Given the description of an element on the screen output the (x, y) to click on. 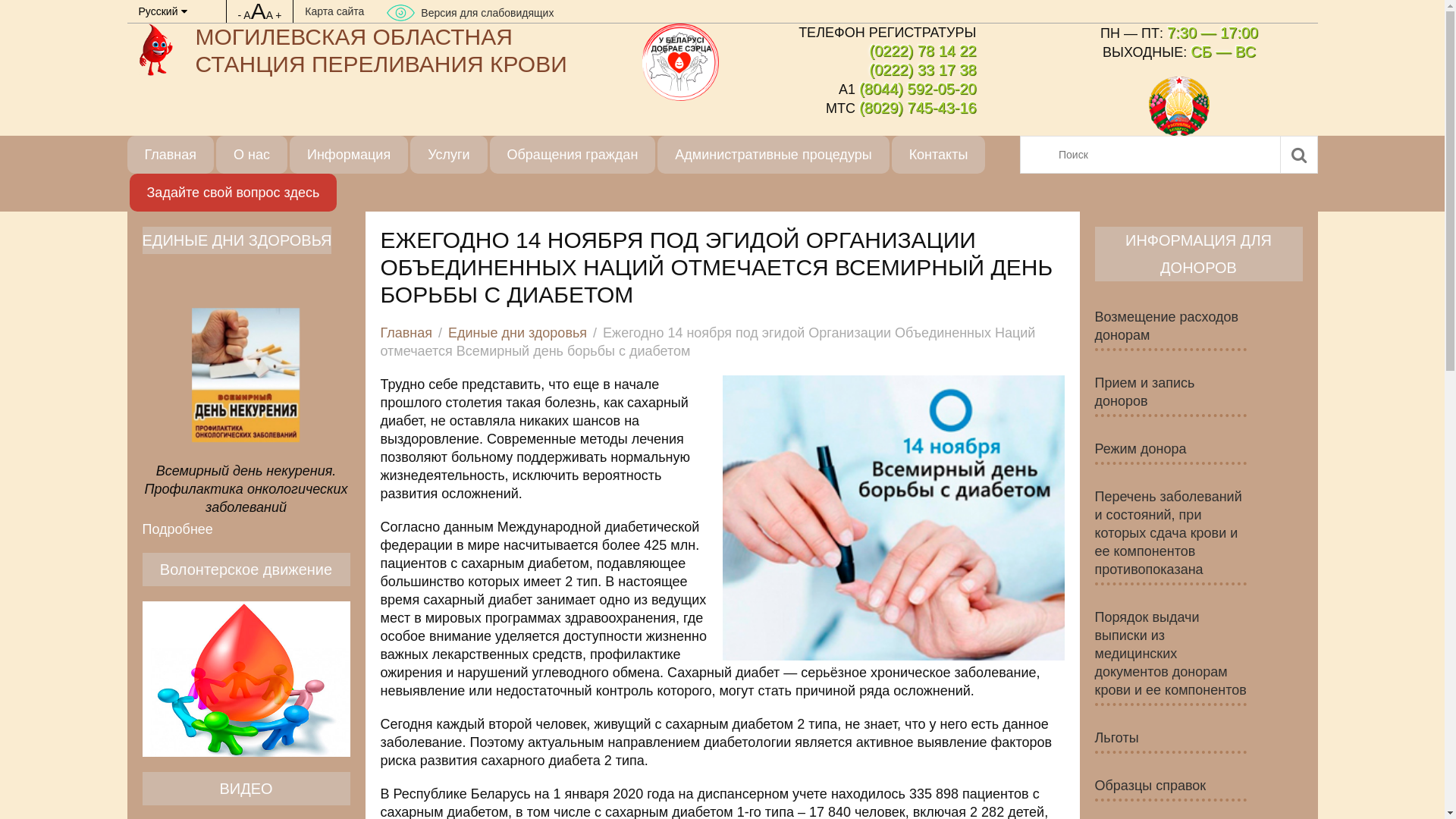
- Element type: text (239, 15)
+ Element type: text (278, 15)
AAA Element type: text (257, 15)
